Given the description of an element on the screen output the (x, y) to click on. 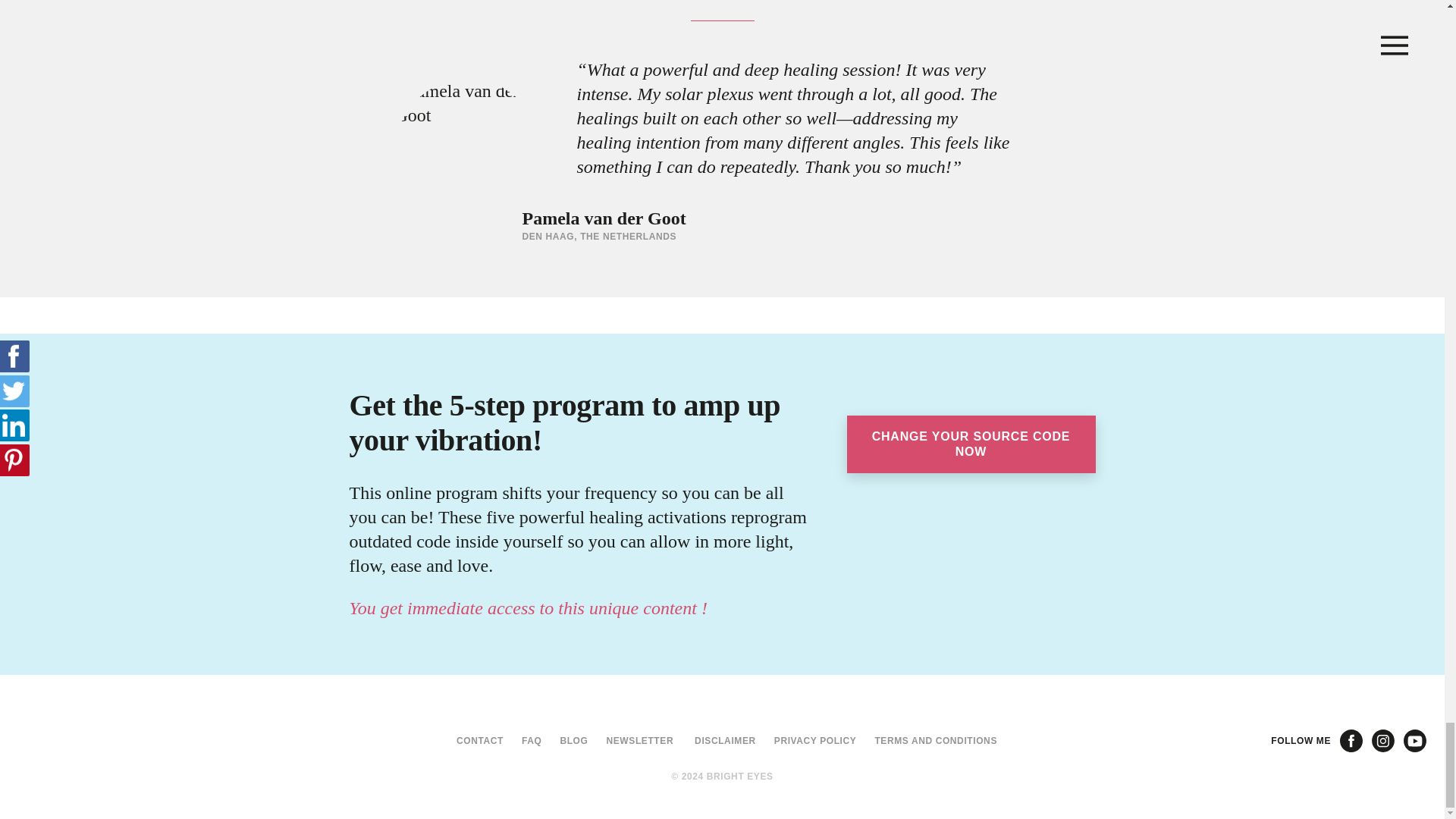
NEWSLETTER (633, 740)
CHANGE YOUR SOURCE CODE NOW (965, 680)
CONTACT (473, 740)
BLOG (568, 740)
FAQ (525, 740)
DISCLAIMER (719, 740)
